Given the description of an element on the screen output the (x, y) to click on. 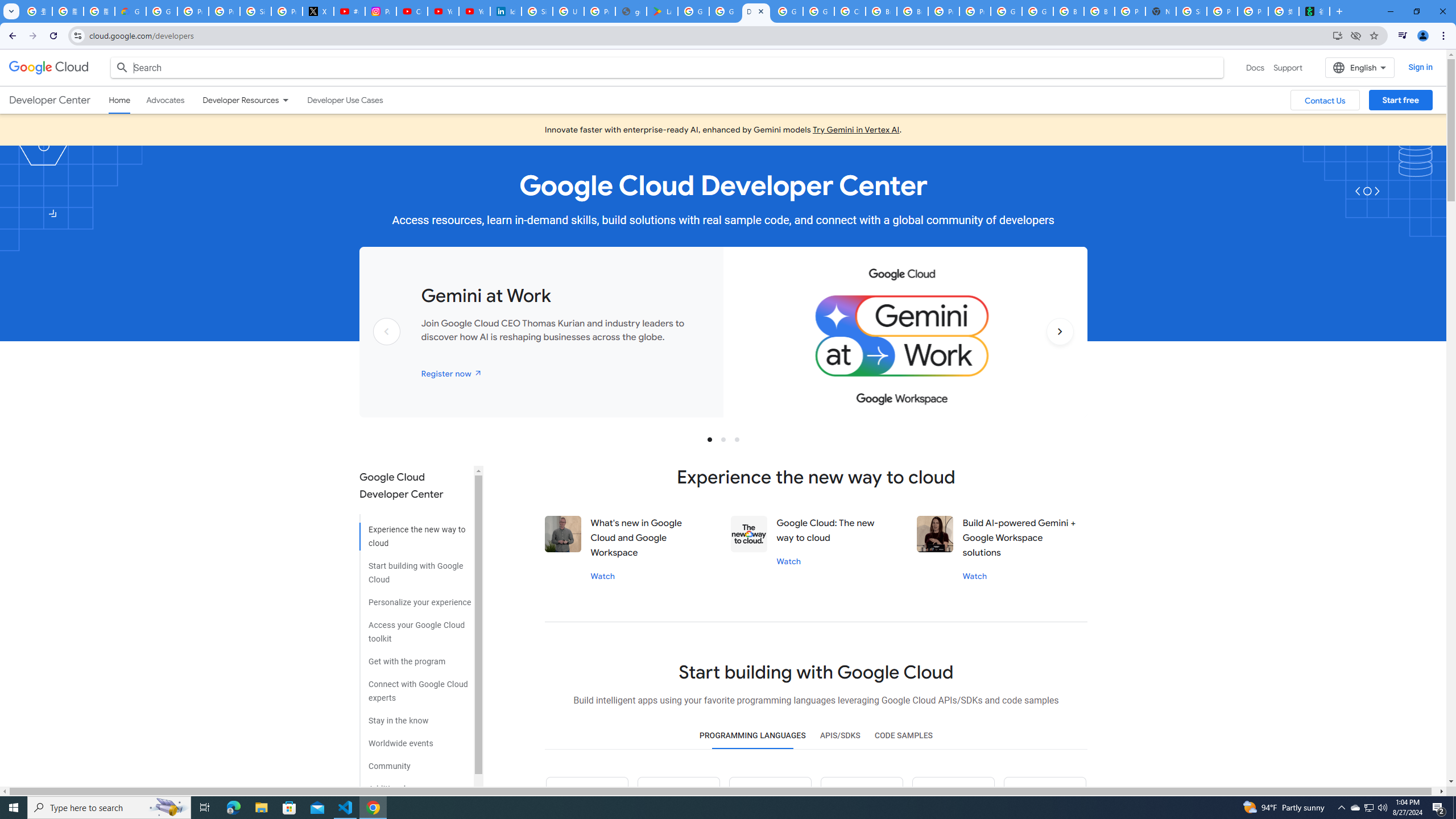
CPP icon (1044, 798)
Developer Use Cases (344, 99)
Slide 3 (736, 438)
Browse Chrome as a guest - Computer - Google Chrome Help (881, 11)
Dot net icon (952, 798)
Get with the program (415, 657)
Install Google Cloud (1336, 35)
Contact Us (1324, 100)
Browse Chrome as a guest - Computer - Google Chrome Help (912, 11)
Start building with Google Cloud (415, 568)
Register now (451, 372)
